Given the description of an element on the screen output the (x, y) to click on. 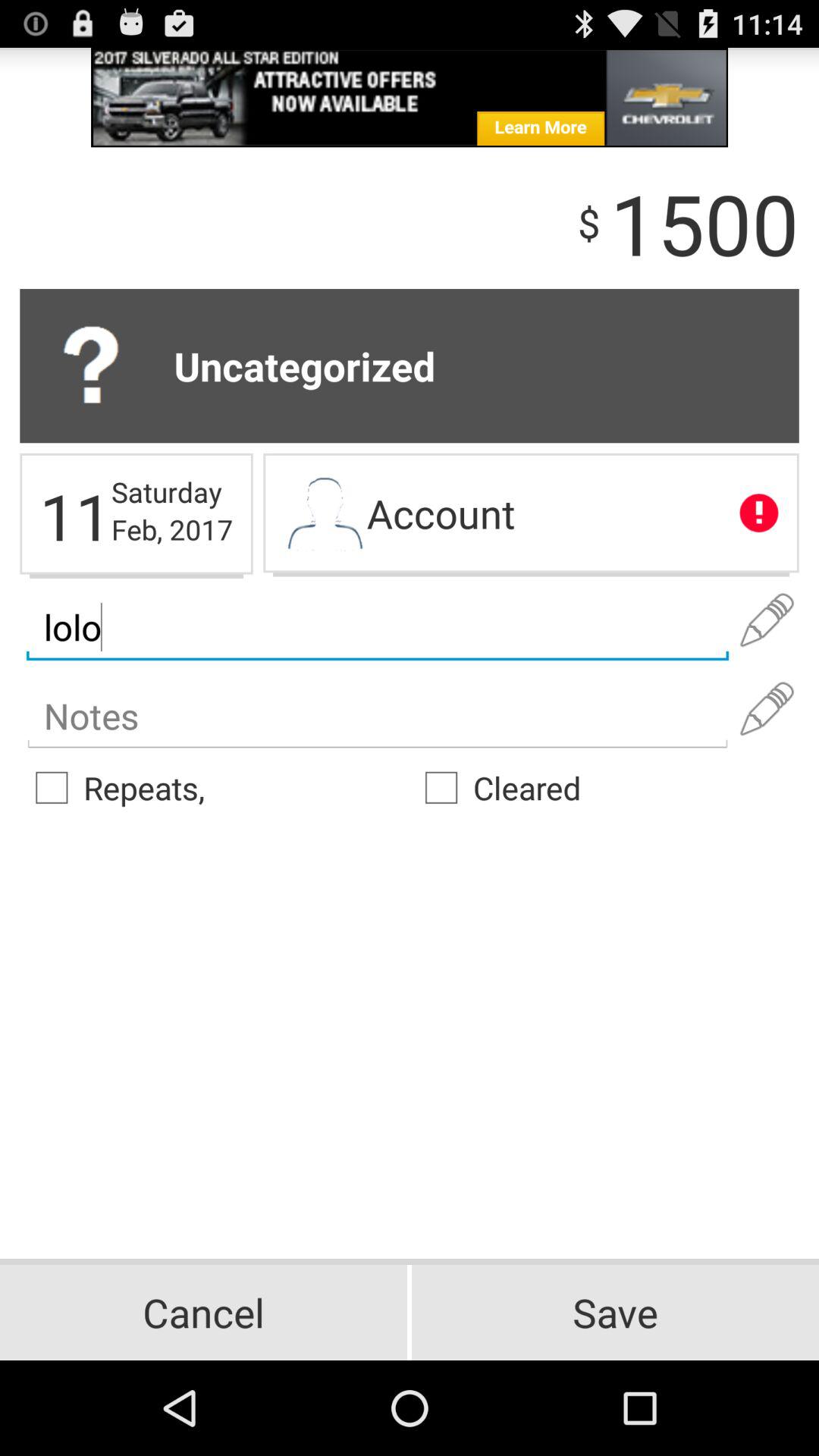
advertisement (409, 97)
